Given the description of an element on the screen output the (x, y) to click on. 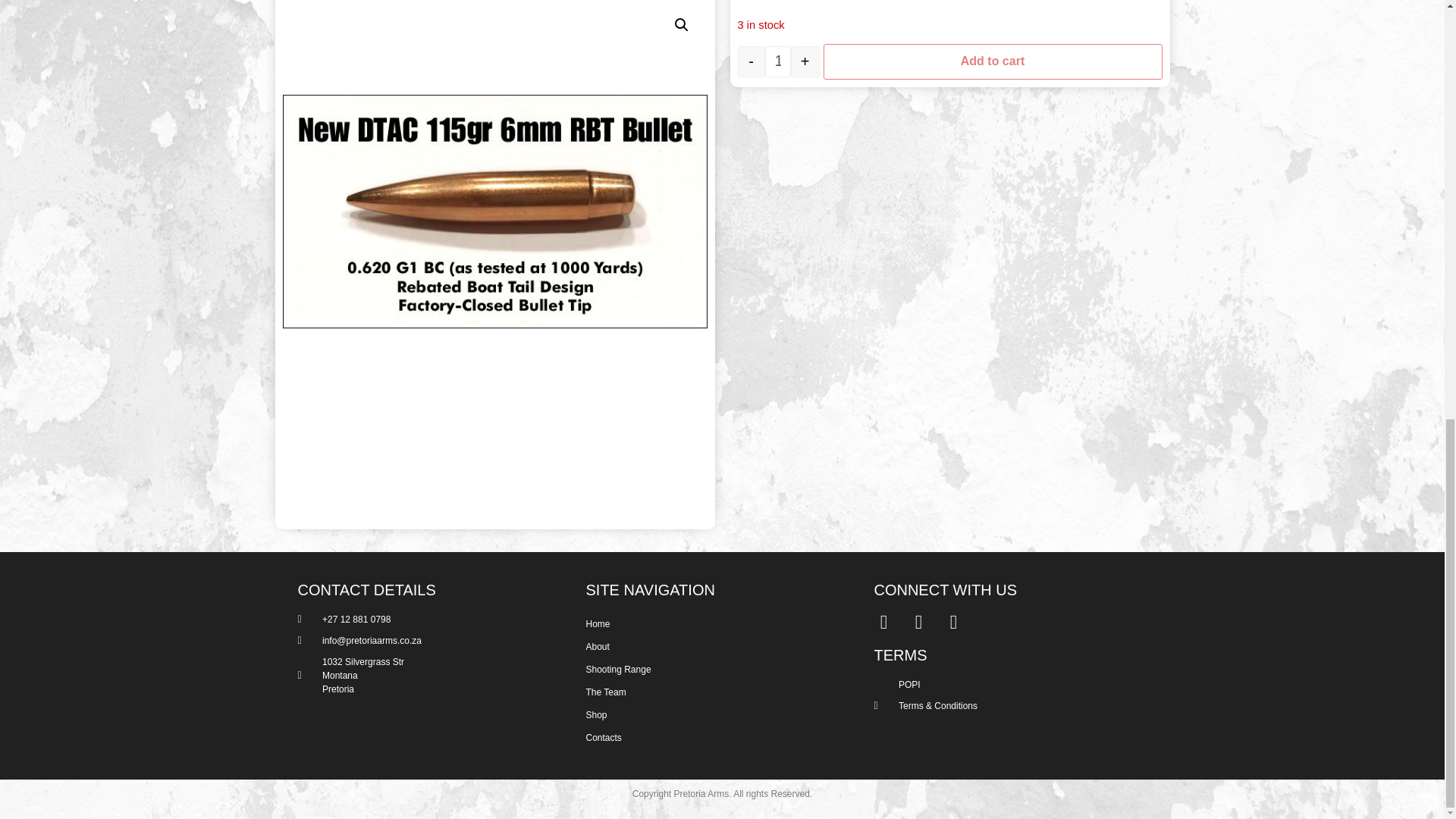
The Team (714, 691)
Shooting Range (714, 669)
About (714, 646)
Shop (714, 714)
Home (714, 623)
Add to cart (992, 68)
